Given the description of an element on the screen output the (x, y) to click on. 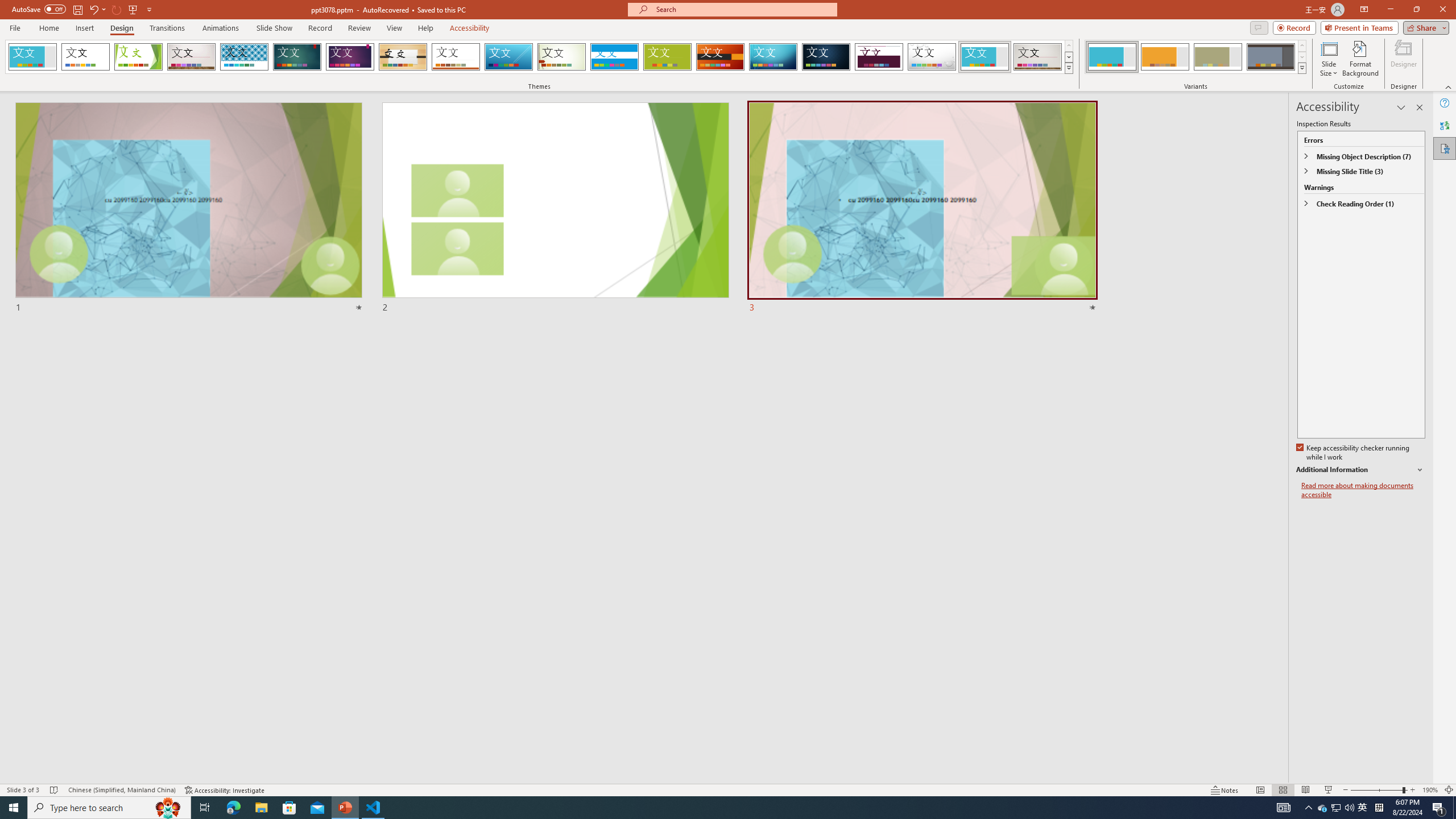
Slice (508, 56)
Zoom 190% (1430, 790)
Organic (403, 56)
Gallery (1037, 56)
Frame Variant 3 (1217, 56)
